Given the description of an element on the screen output the (x, y) to click on. 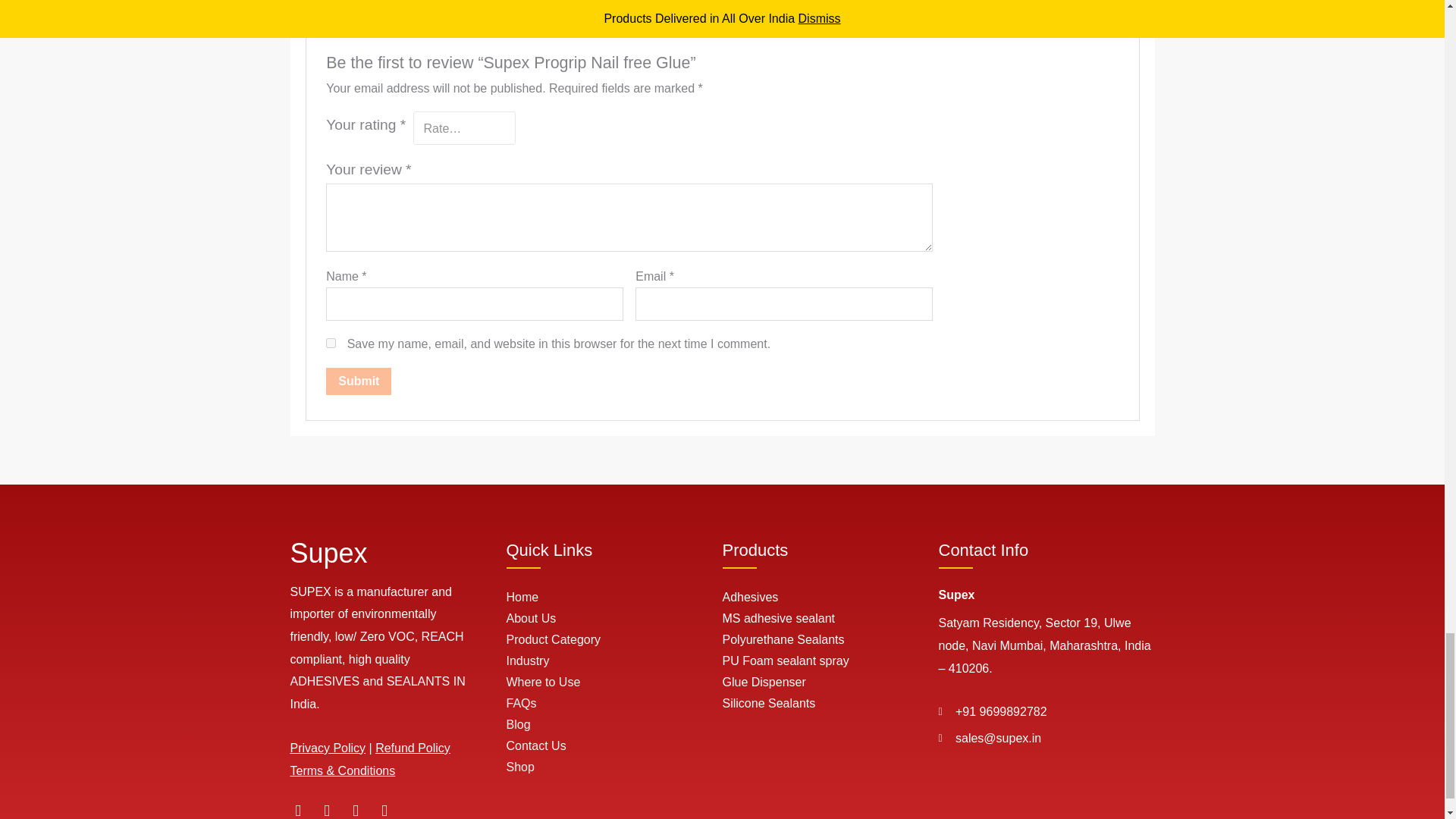
Submit (358, 380)
yes (331, 343)
